Given the description of an element on the screen output the (x, y) to click on. 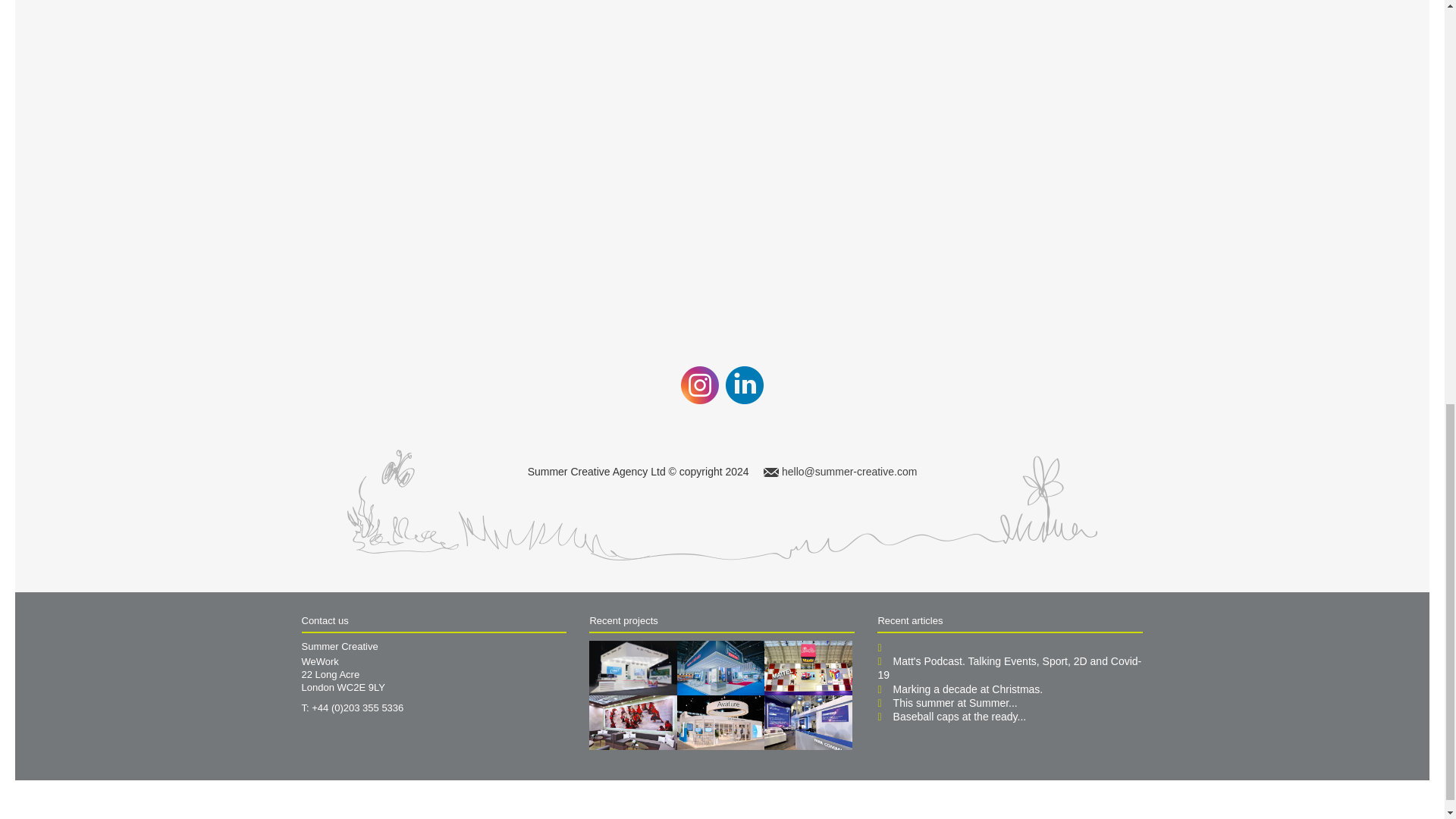
This summer at Summer... (955, 702)
Baseball caps at the ready... (959, 716)
Marking a decade at Christmas. (968, 689)
Matt's Podcast. Talking Events, Sport, 2D and Covid-19 (1009, 667)
